Given the description of an element on the screen output the (x, y) to click on. 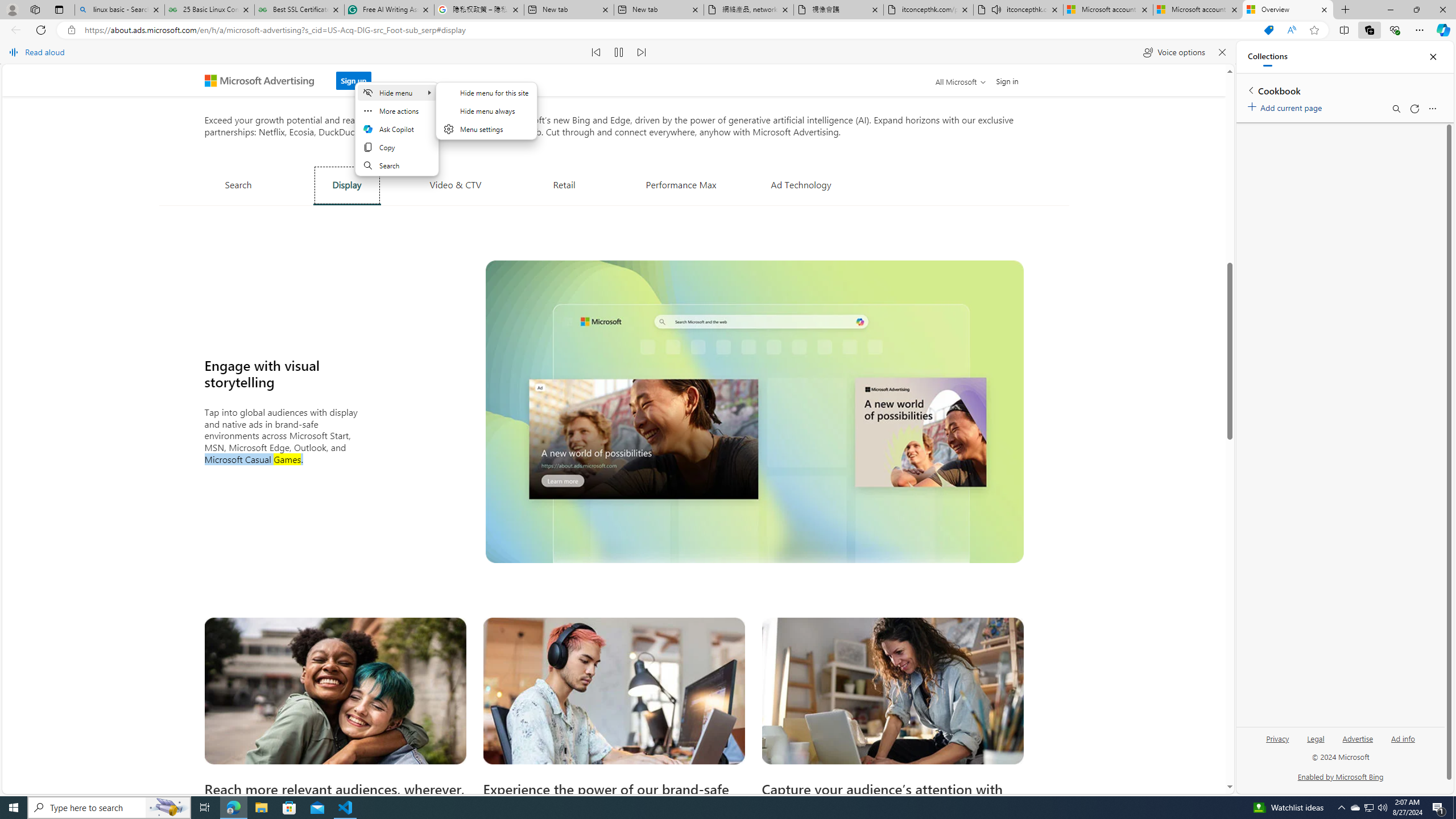
Read previous paragraph (596, 52)
Pause read aloud (Ctrl+Shift+U) (618, 52)
Mute tab (996, 8)
Add current page (1286, 105)
Ad Technology (801, 183)
linux basic - Search (118, 9)
Hide menu (486, 110)
Video & CTV (454, 183)
